Given the description of an element on the screen output the (x, y) to click on. 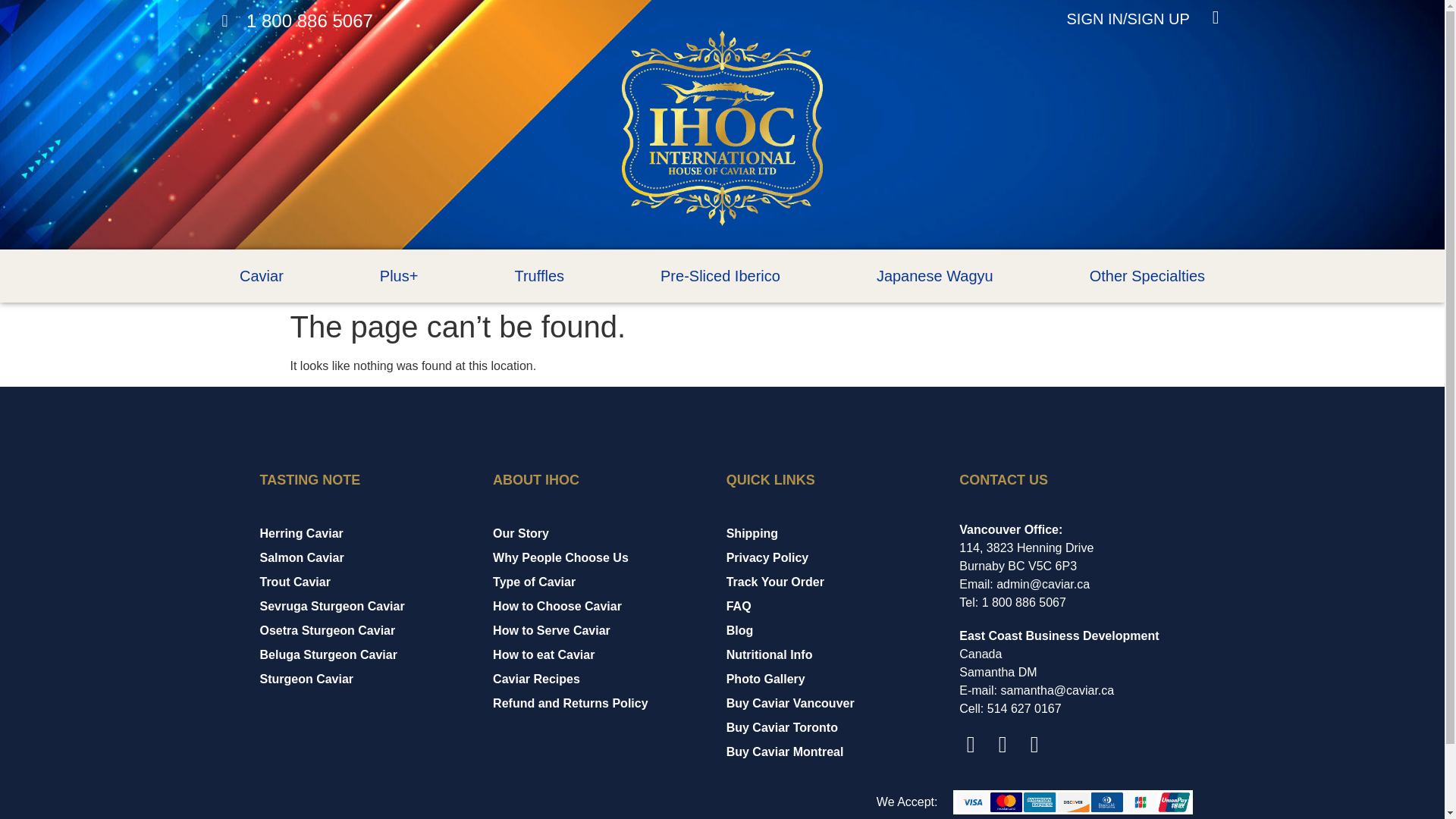
Pre-Sliced Iberico (720, 275)
Japanese Wagyu (934, 275)
Truffles (538, 275)
Other Specialties (1146, 275)
1 800 886 5067 (296, 21)
Caviar (260, 275)
